Given the description of an element on the screen output the (x, y) to click on. 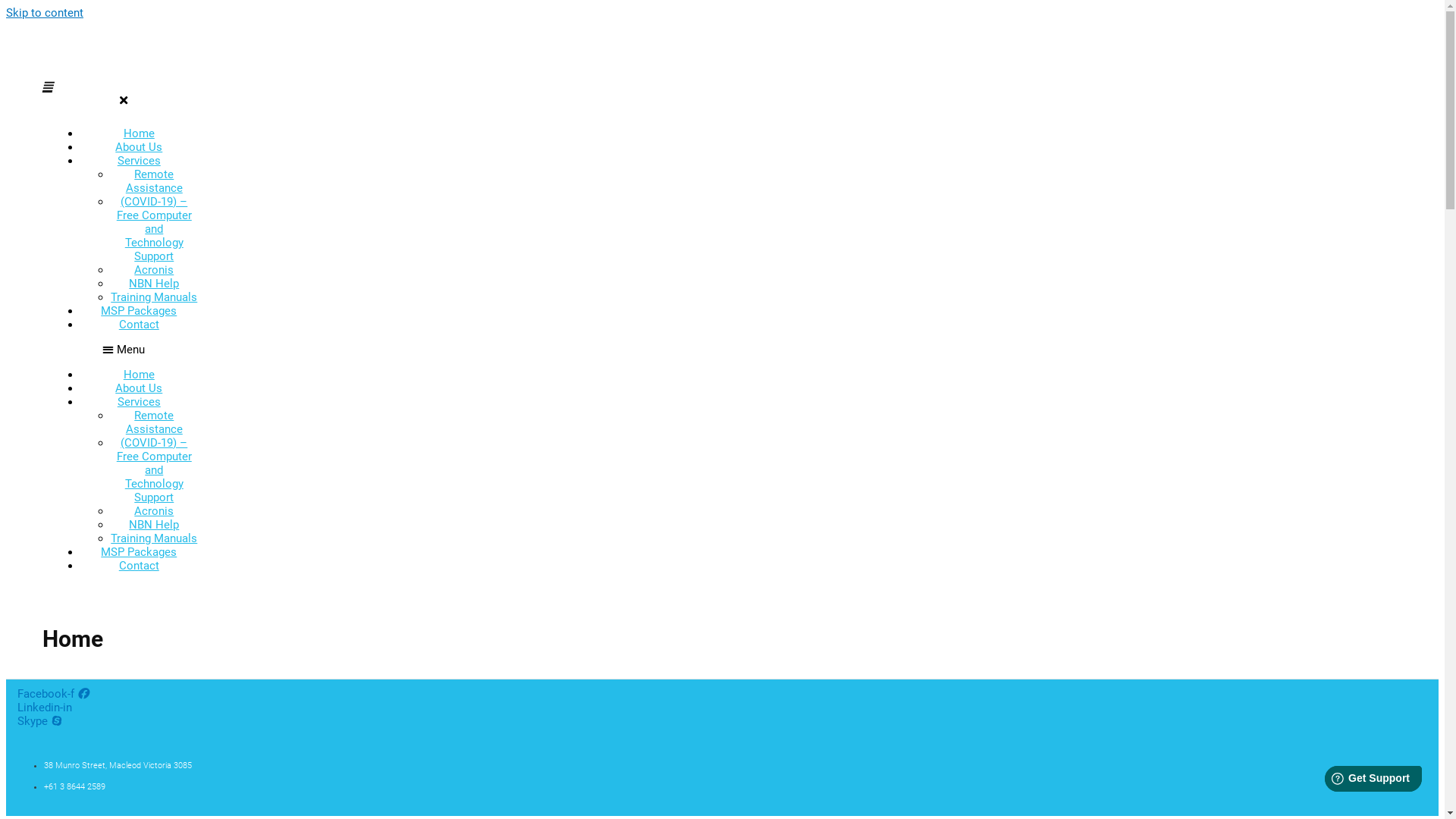
Training Manuals Element type: text (153, 538)
Remote Assistance Element type: text (153, 422)
Services Element type: text (138, 160)
Skype Element type: text (38, 721)
Remote Assistance Element type: text (153, 180)
About Us Element type: text (138, 388)
Contact Element type: text (139, 324)
Acronis Element type: text (153, 510)
NBN Help Element type: text (153, 524)
MSP Packages Element type: text (138, 310)
Skip to content Element type: text (44, 12)
Contact Element type: text (139, 565)
About Us Element type: text (138, 146)
Home Element type: text (138, 133)
Acronis Element type: text (153, 269)
Facebook-f Element type: text (52, 693)
NBN Help Element type: text (153, 283)
Services Element type: text (138, 401)
Training Manuals Element type: text (153, 297)
Home Element type: text (138, 374)
Linkedin-in Element type: text (44, 707)
MSP Packages Element type: text (138, 551)
